Given the description of an element on the screen output the (x, y) to click on. 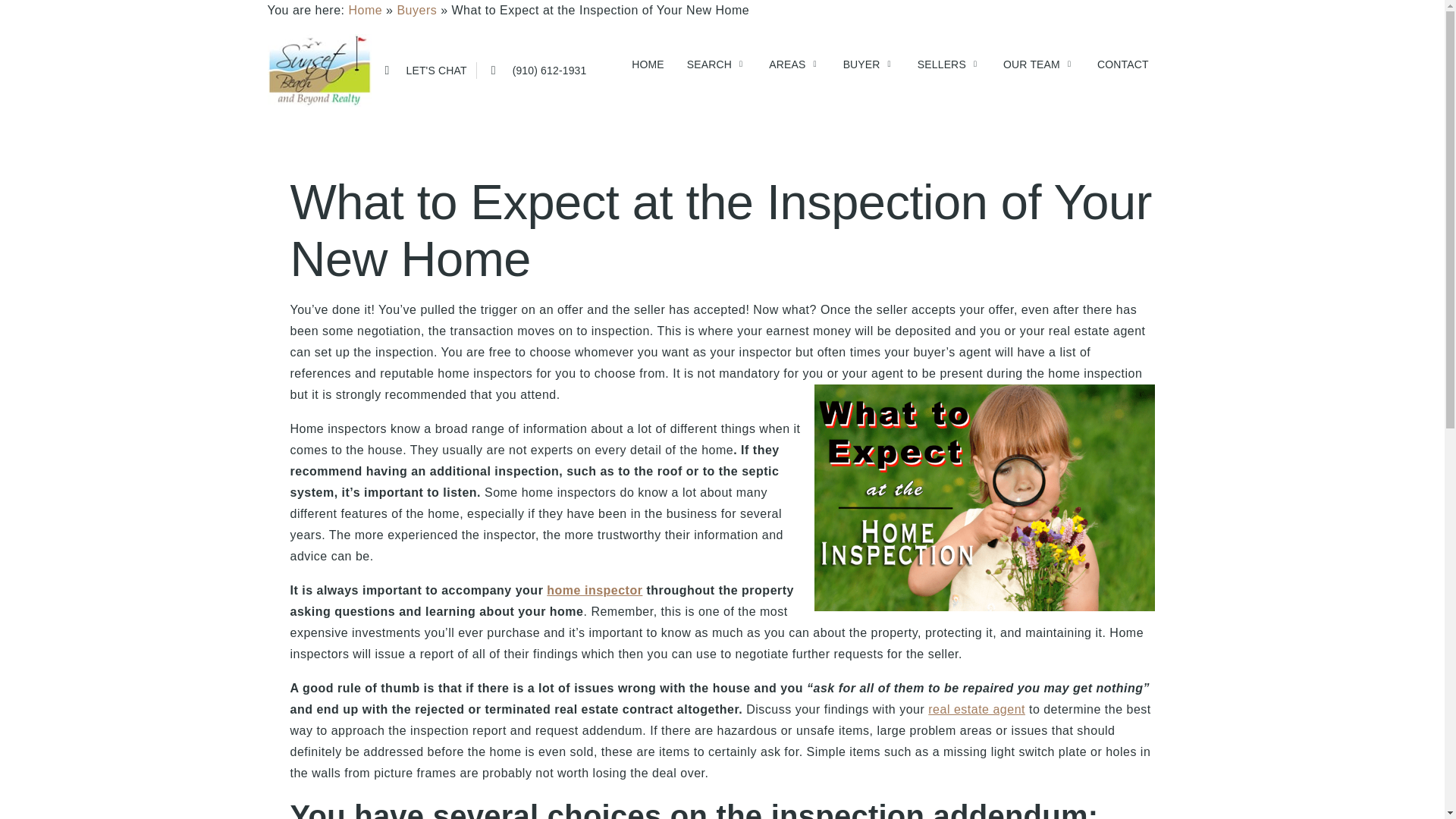
SEARCH (1064, 63)
LET'S CHAT (421, 56)
AREAS (979, 63)
home inspector (594, 590)
SELLERS (951, 63)
OUR TEAM (1030, 63)
CONTACT (1111, 63)
BUYER (909, 63)
Buyers (416, 10)
Home (364, 10)
HOME (1030, 63)
